Given the description of an element on the screen output the (x, y) to click on. 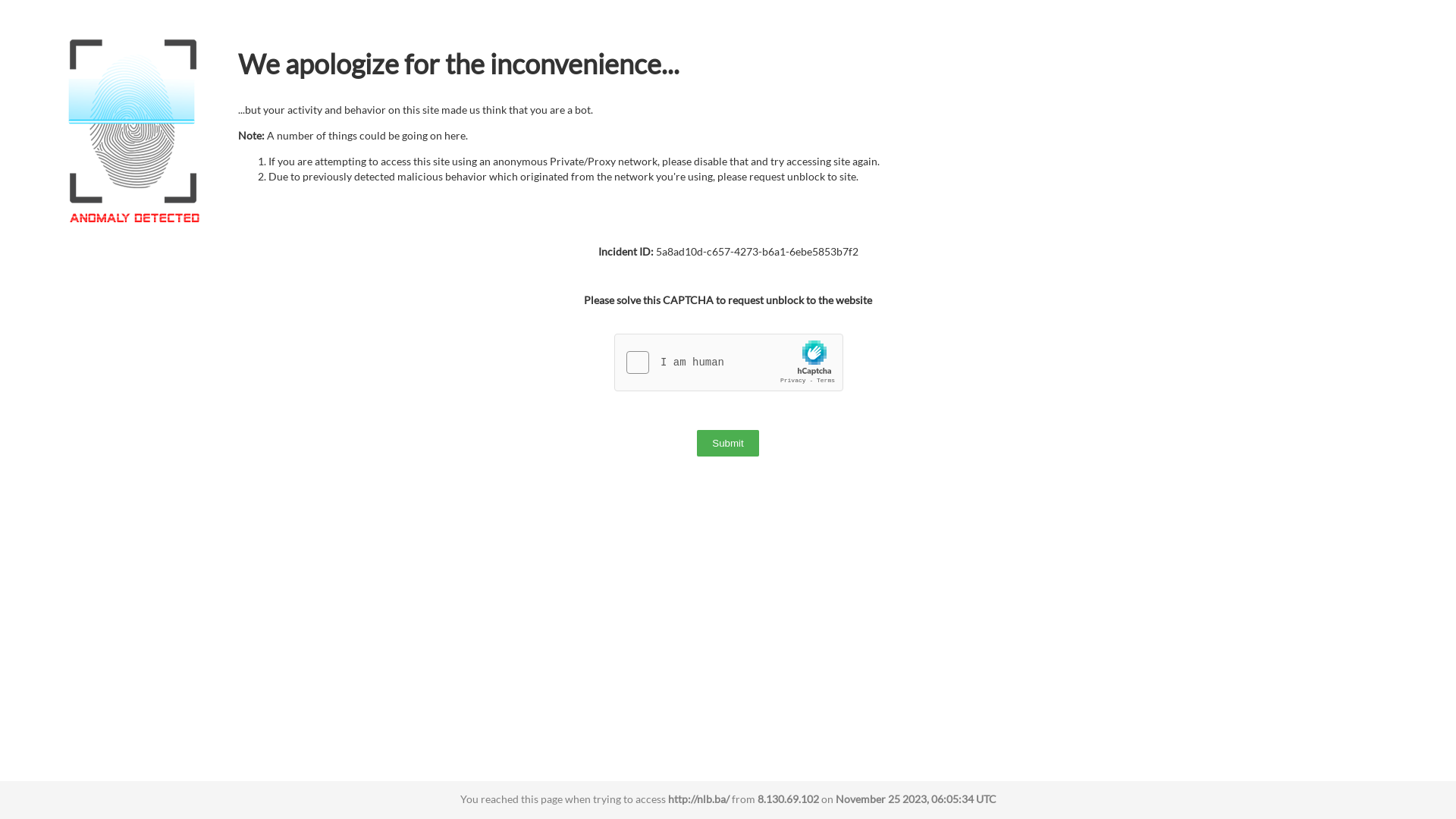
Widget containing checkbox for hCaptcha security challenge Element type: hover (729, 362)
Submit Element type: text (727, 442)
